Given the description of an element on the screen output the (x, y) to click on. 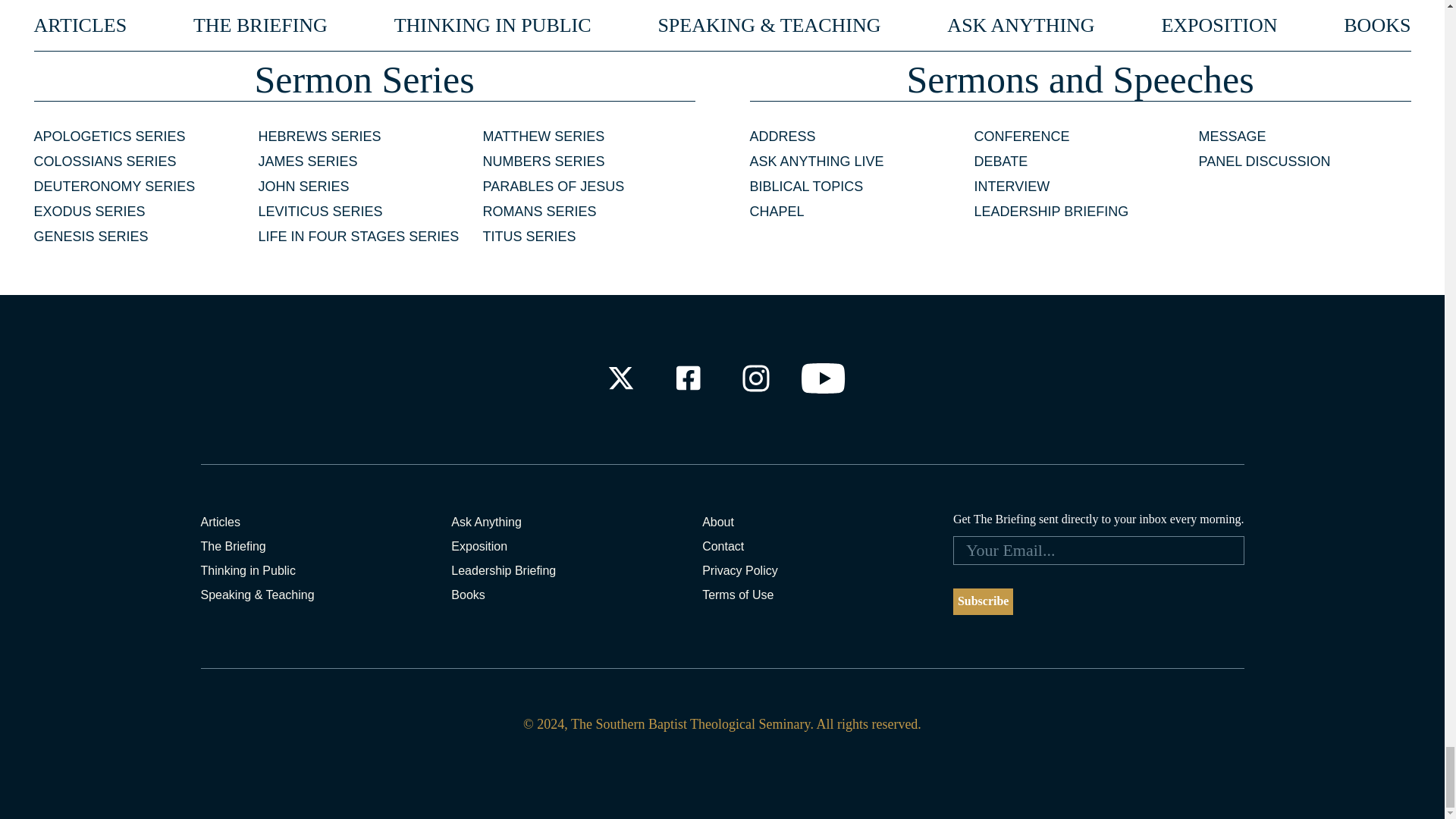
Check out our Instagram Profile (755, 377)
Check out our Facebook Profile (687, 377)
Check out our Youtube Channel (822, 377)
Check out our X Profile (620, 377)
Subscribe (983, 601)
